Given the description of an element on the screen output the (x, y) to click on. 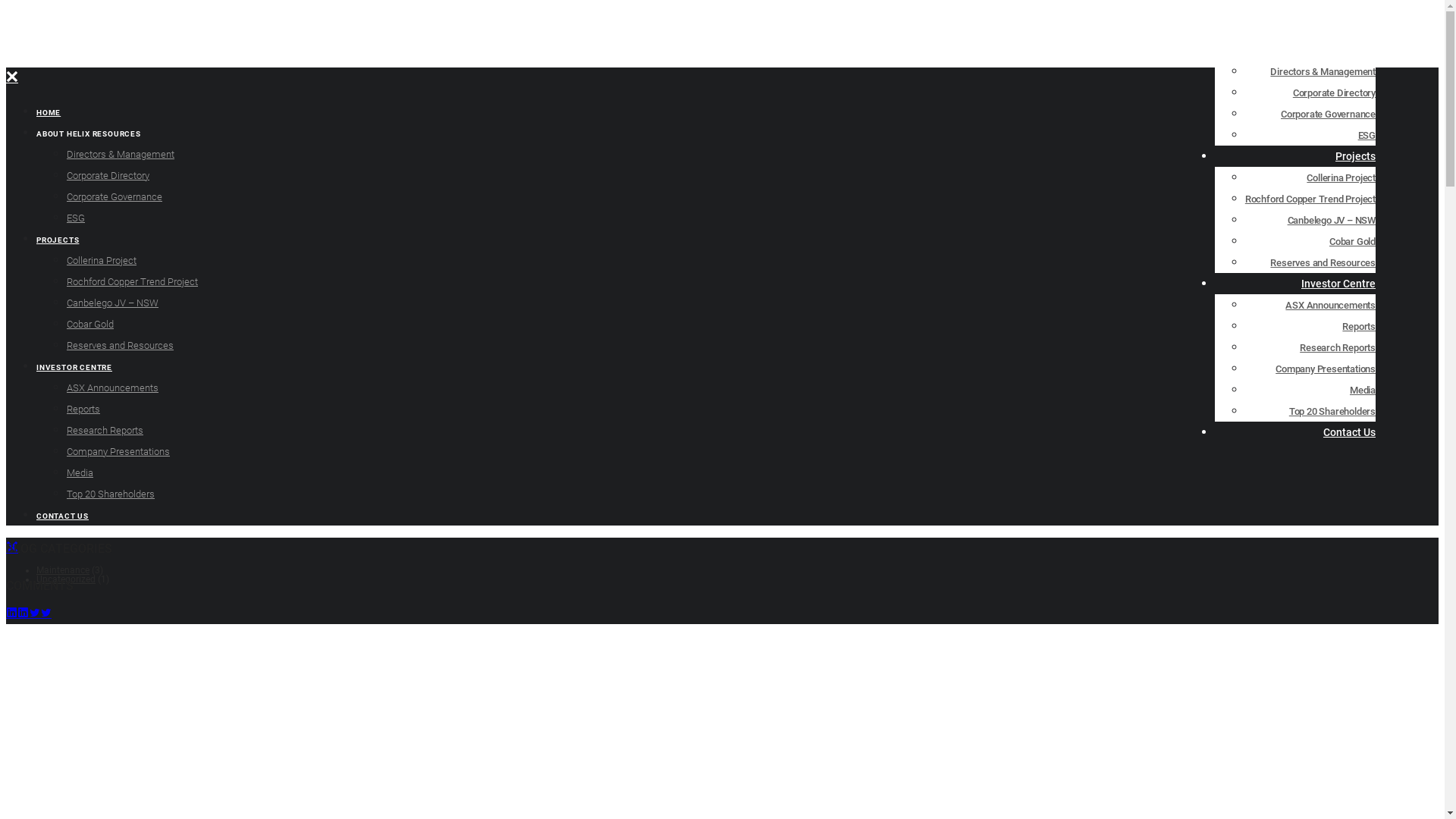
Directors & Management Element type: text (1322, 71)
CONTACT US Element type: text (62, 515)
ASX Announcements Element type: text (112, 387)
Media Element type: text (1362, 389)
Company Presentations Element type: text (117, 451)
Cobar Gold Element type: text (89, 323)
Corporate Directory Element type: text (107, 175)
Rochford Copper Trend Project Element type: text (1310, 198)
Research Reports Element type: text (104, 430)
Rochford Copper Trend Project Element type: text (131, 281)
Reports Element type: text (83, 408)
LinkedIN Element type: hover (17, 612)
Corporate Governance Element type: text (114, 196)
Contact Us Element type: text (1349, 432)
Reports Element type: text (1358, 326)
ASX Announcements Element type: text (1330, 304)
Reserves and Resources Element type: text (1322, 262)
ESG Element type: text (1366, 135)
Collerina Project Element type: text (1340, 177)
INVESTOR CENTRE Element type: text (74, 367)
ESG Element type: text (75, 217)
Top 20 Shareholders Element type: text (1332, 411)
Twitter Element type: hover (39, 612)
Media Element type: text (79, 472)
Corporate Governance Element type: text (1327, 113)
Research Reports Element type: text (1337, 347)
HOME Element type: text (48, 112)
LinkedIN Element type: hover (1396, 15)
Maintenance Element type: text (62, 569)
About Helix Resources Element type: text (1320, 49)
Investor Centre Element type: text (1338, 283)
Top 20 Shareholders Element type: text (110, 493)
Directors & Management Element type: text (120, 154)
Uncategorized Element type: text (65, 579)
Collerina Project Element type: text (101, 260)
Cobar Gold Element type: text (1352, 241)
Corporate Directory Element type: text (1333, 92)
Company Presentations Element type: text (1325, 368)
Reserves and Resources Element type: text (119, 345)
Home Element type: text (1360, 28)
Twitter Element type: hover (1408, 15)
ABOUT HELIX RESOURCES Element type: text (88, 133)
PROJECTS Element type: text (57, 239)
Projects Element type: text (1355, 156)
